Given the description of an element on the screen output the (x, y) to click on. 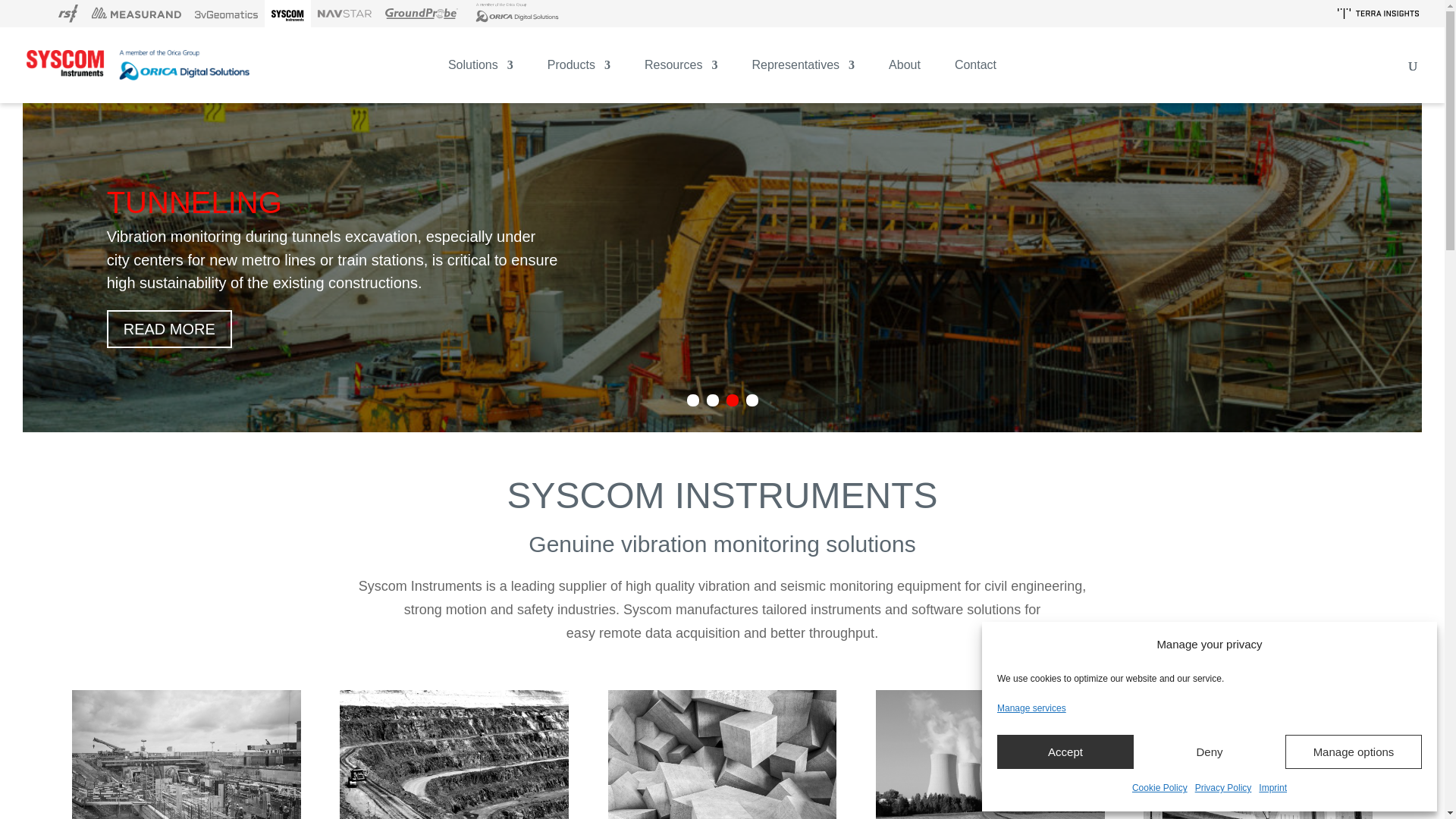
Solutions (480, 81)
Privacy Policy (1223, 788)
Deny (1209, 751)
Orica Digital Solutions (516, 13)
Manage options (1353, 751)
Manage services (1031, 708)
NavStar (344, 13)
3vGeomatics (225, 13)
Cookie Policy (1160, 788)
GroundProbe (421, 13)
SYSCOM Instruments (287, 13)
RST Instruments (67, 13)
Terra Insights (1377, 13)
Measurand (135, 13)
Imprint (1273, 788)
